Given the description of an element on the screen output the (x, y) to click on. 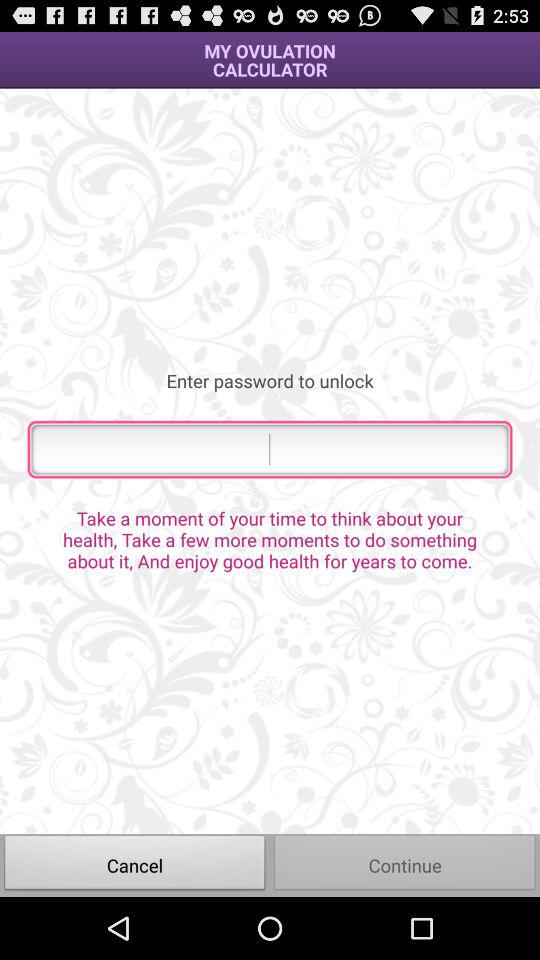
enter required password to continue (269, 449)
